Given the description of an element on the screen output the (x, y) to click on. 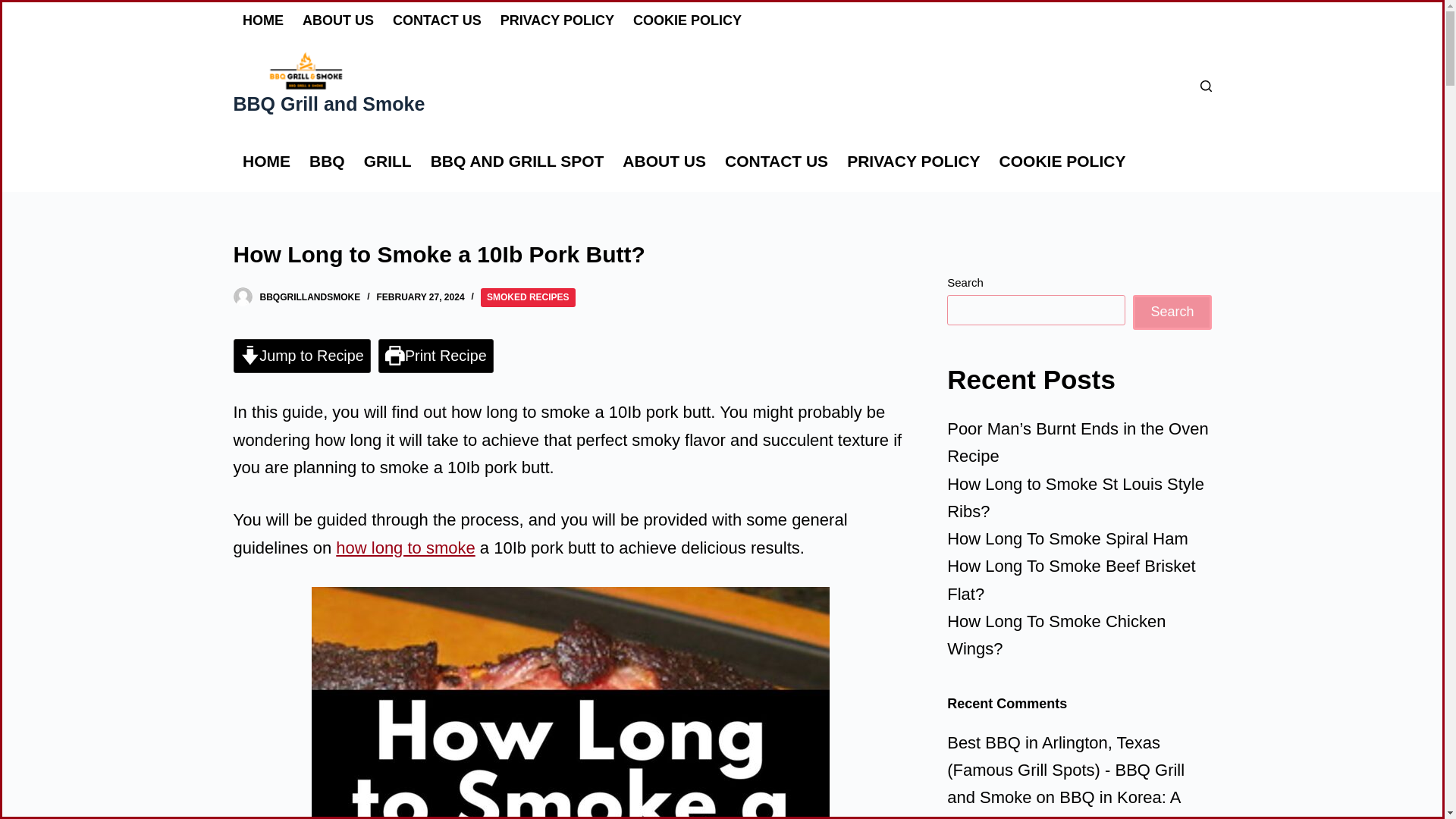
Print Recipe (435, 356)
GRILL (386, 161)
How Long to Smoke a 10Ib Pork Butt? (570, 254)
Skip to content (15, 7)
COOKIE POLICY (687, 21)
Posts by bbqgrillandsmoke (309, 296)
BBQ (327, 161)
CONTACT US (777, 161)
CONTACT US (438, 21)
Jump to Recipe (301, 356)
HOME (265, 161)
COOKIE POLICY (1062, 161)
BBQ AND GRILL SPOT (516, 161)
HOME (263, 21)
ABOUT US (337, 21)
